Given the description of an element on the screen output the (x, y) to click on. 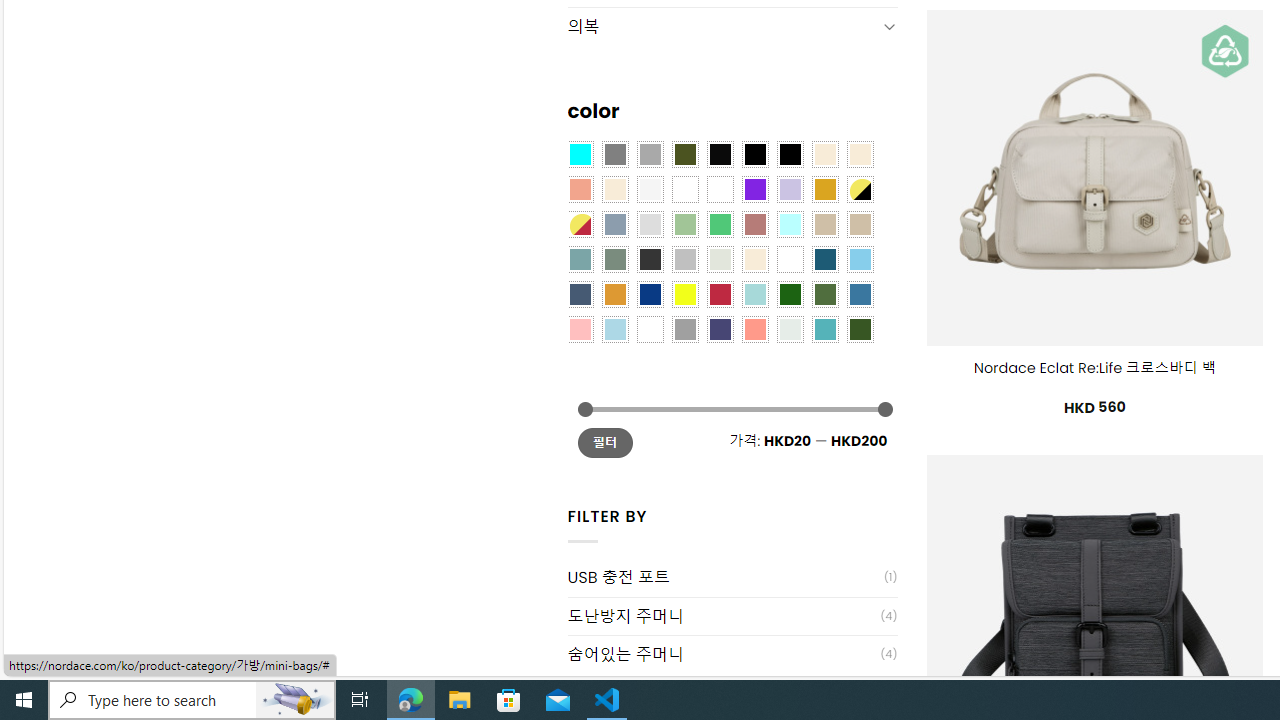
Dull Nickle (789, 329)
